Given the description of an element on the screen output the (x, y) to click on. 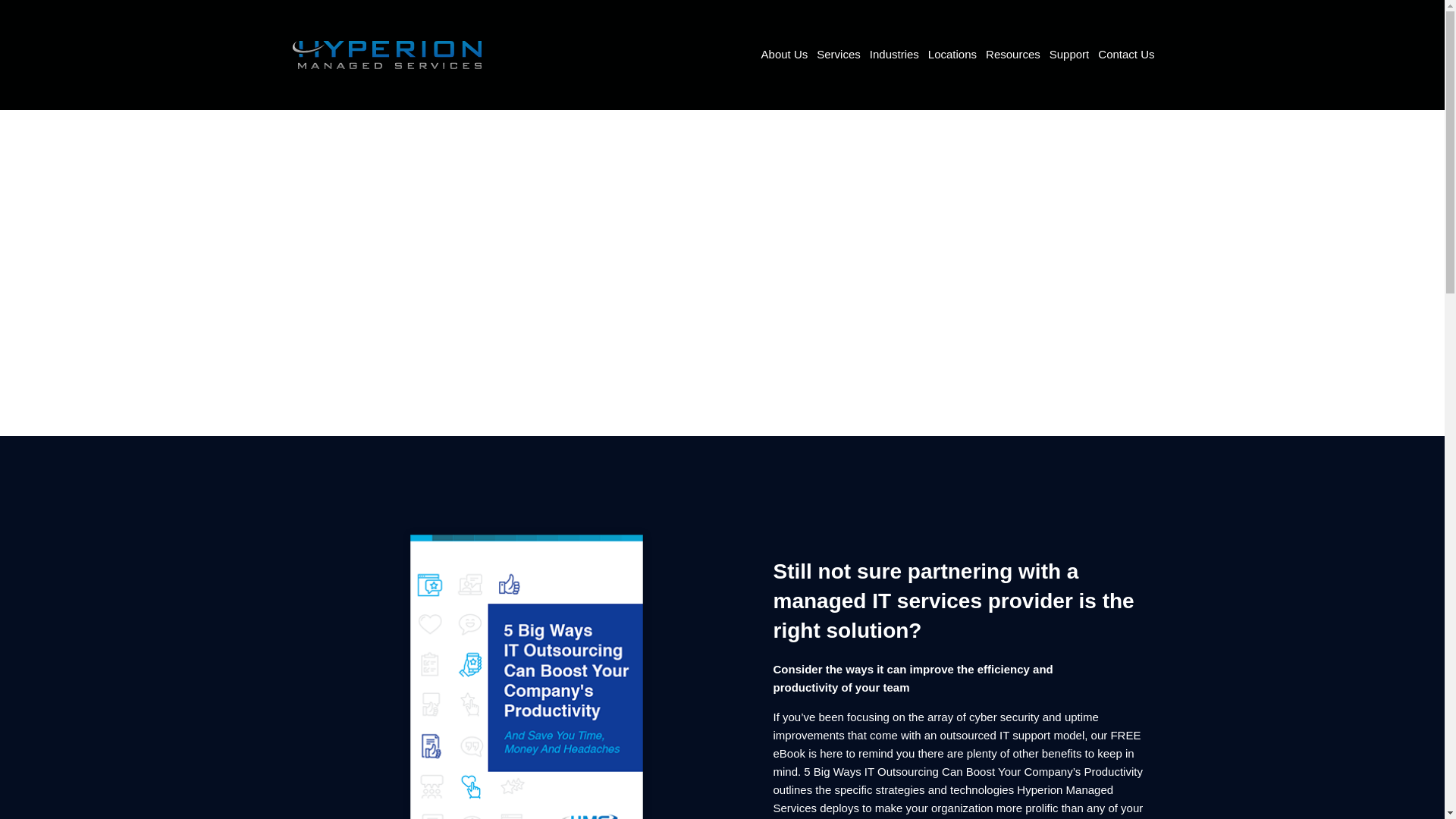
Locations (952, 53)
Industries (893, 53)
Services (838, 53)
Support (1069, 53)
About Us (784, 53)
Resources (1013, 53)
